Given the description of an element on the screen output the (x, y) to click on. 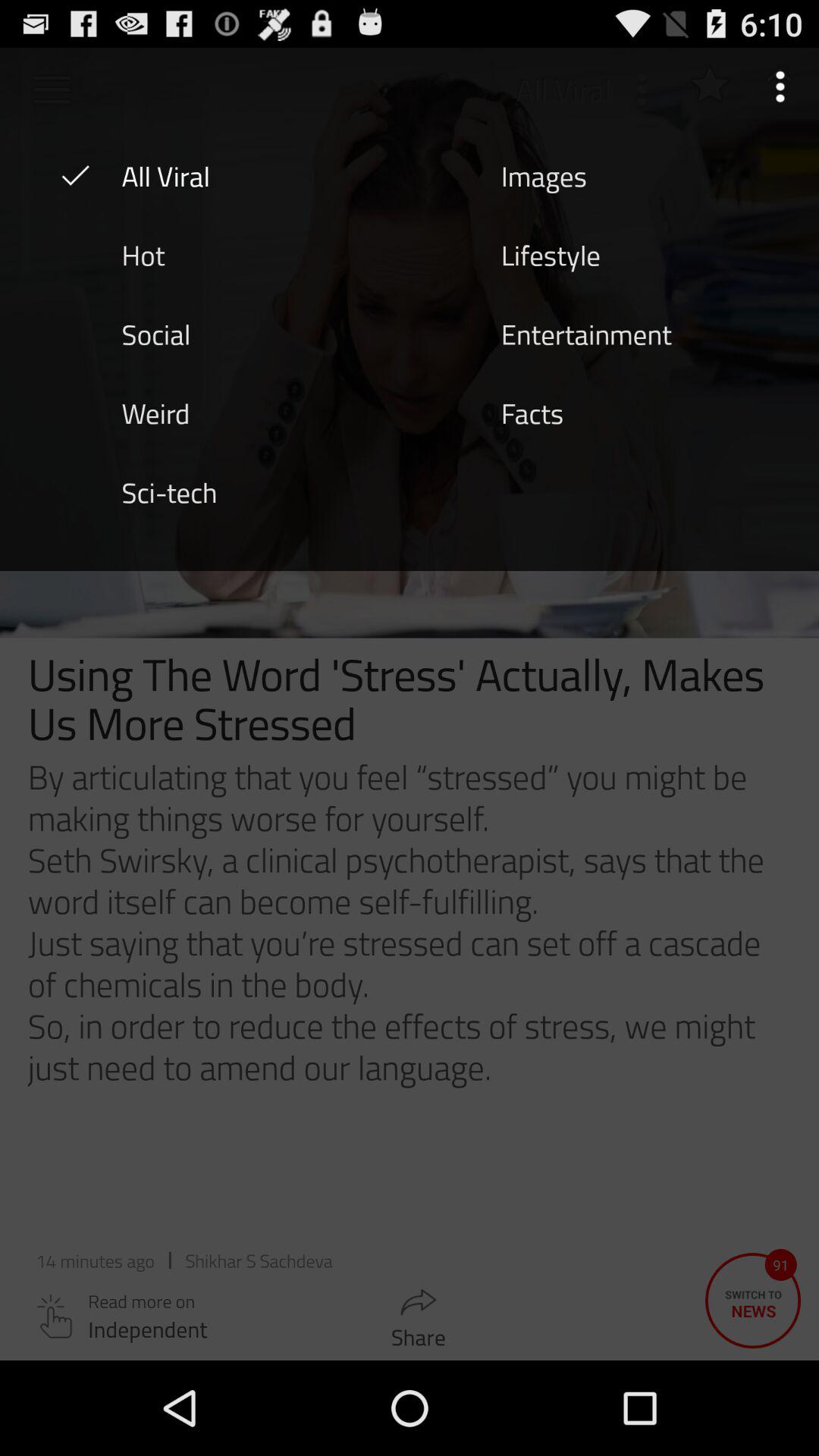
turn off item below images item (550, 253)
